Given the description of an element on the screen output the (x, y) to click on. 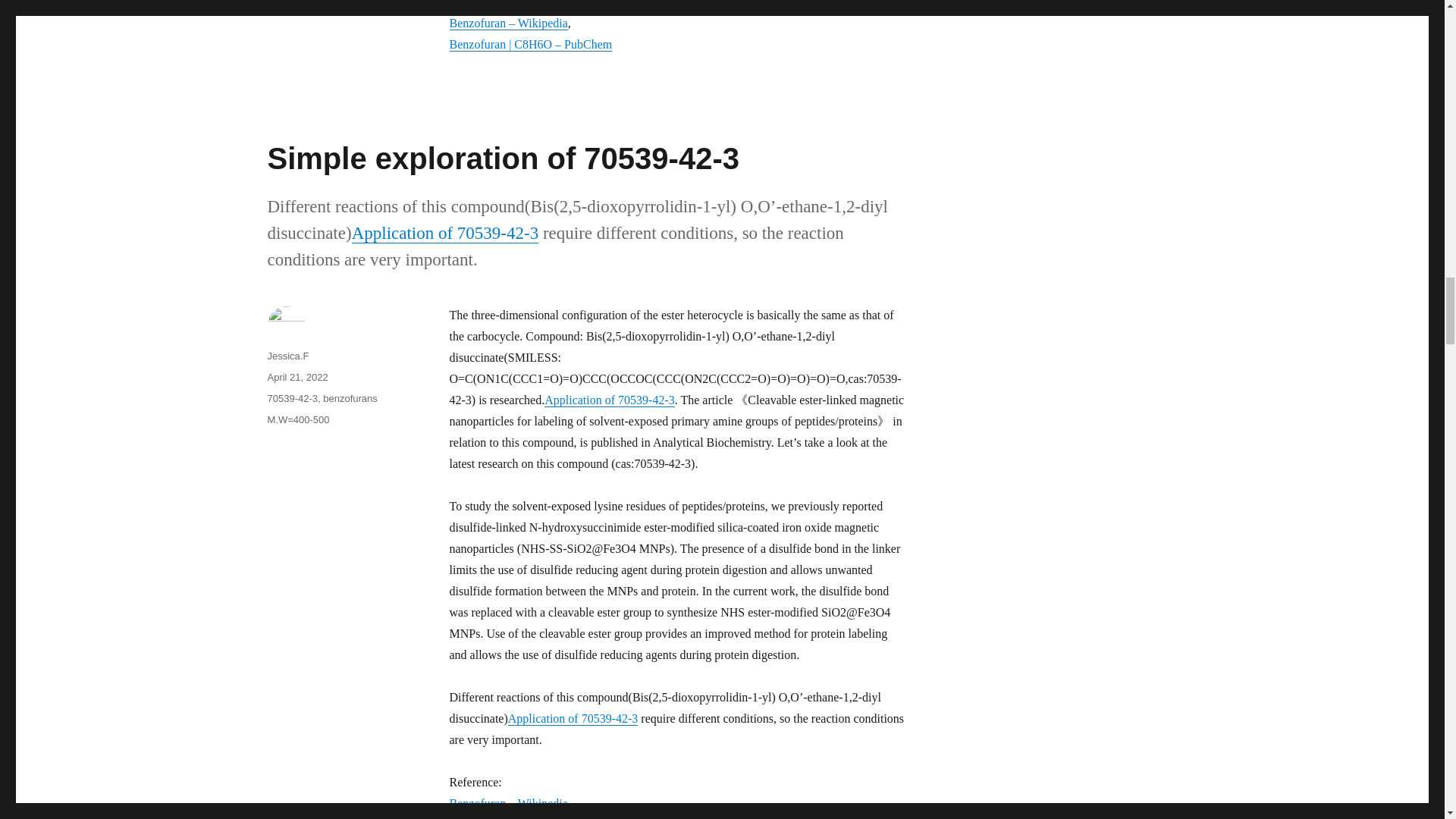
Simple exploration of 70539-42-3 (502, 158)
Application of 70539-42-3 (609, 399)
Application of 70539-42-3 (573, 717)
Application of 70539-42-3 (445, 232)
